Given the description of an element on the screen output the (x, y) to click on. 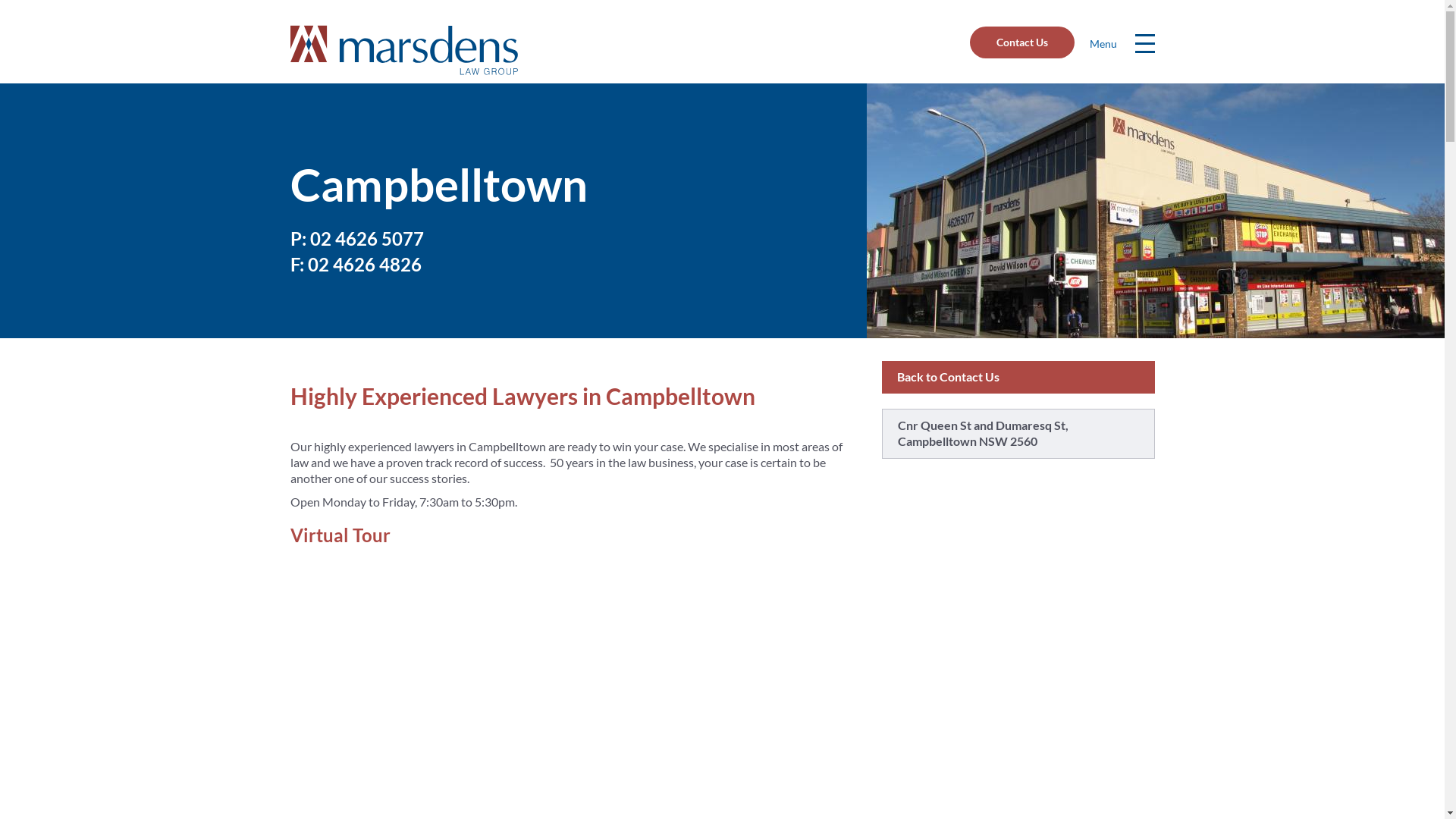
Back to Contact Us Element type: text (947, 376)
Menu Element type: text (1144, 41)
Contact Us Element type: text (1021, 42)
